Given the description of an element on the screen output the (x, y) to click on. 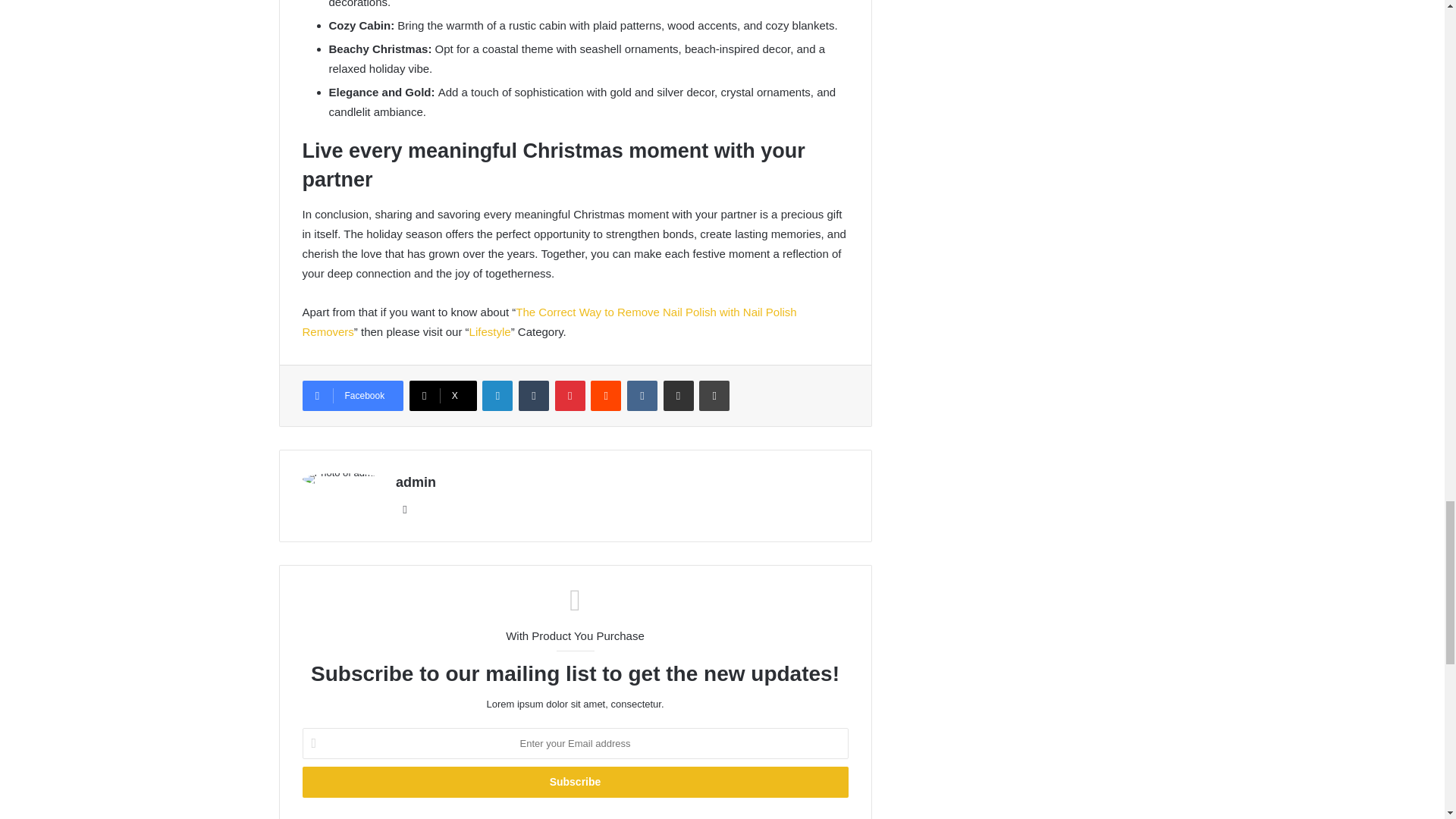
Share via Email (678, 395)
Tumblr (533, 395)
VKontakte (642, 395)
X (443, 395)
Reddit (606, 395)
Subscribe (574, 781)
Facebook (352, 395)
Pinterest (569, 395)
LinkedIn (496, 395)
